Given the description of an element on the screen output the (x, y) to click on. 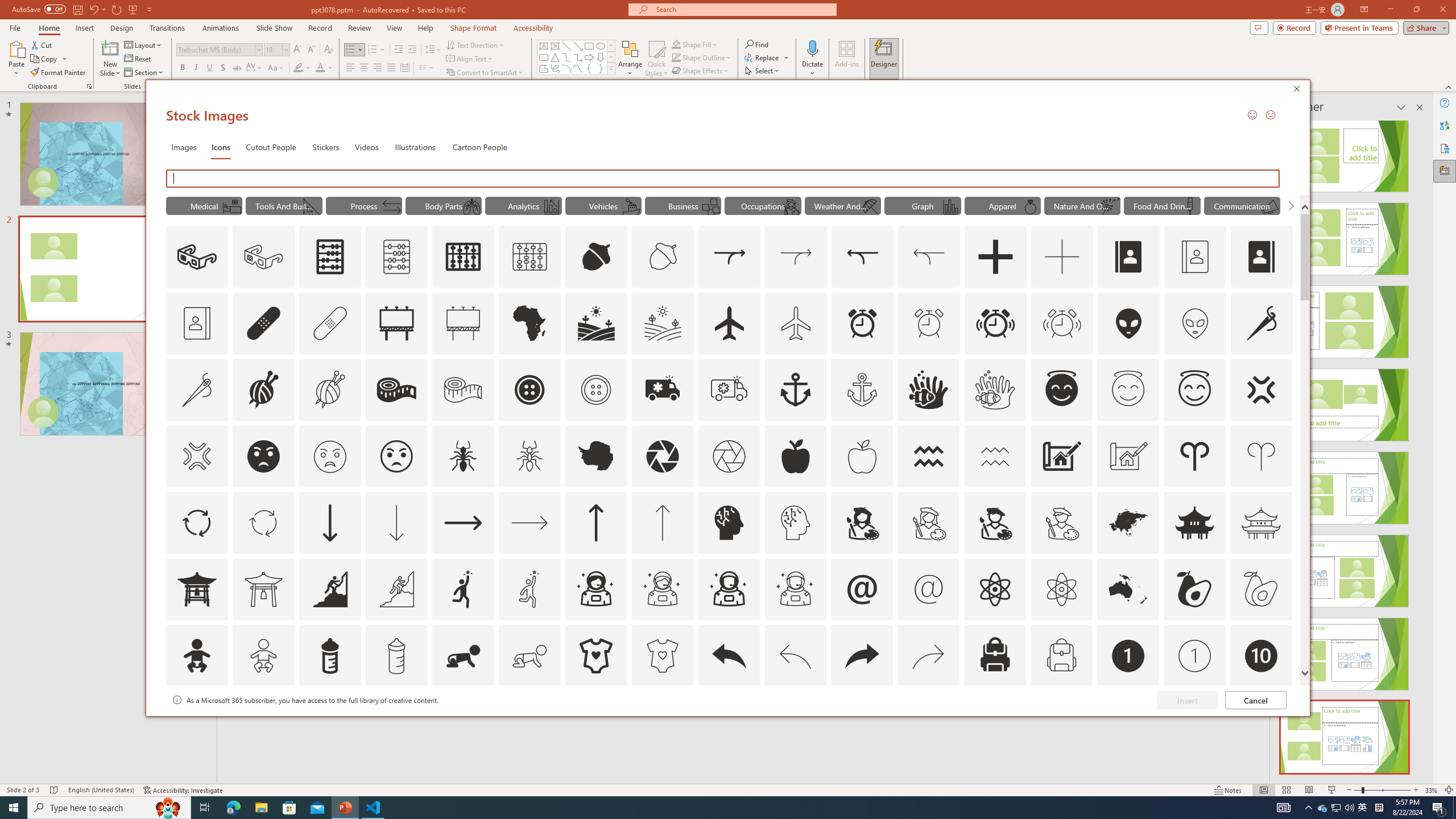
AutomationID: Icons_Architecture_M (1128, 455)
AutomationID: Icons_PostitNotes1_M (710, 206)
AutomationID: Icons_At_M (928, 588)
Illustrations (415, 146)
IME Mode Icon - IME is disabled (1362, 807)
AutomationID: Icons_AddressBook_LTR (1128, 256)
AutomationID: Icons_Abacus1_M (529, 256)
